Given the description of an element on the screen output the (x, y) to click on. 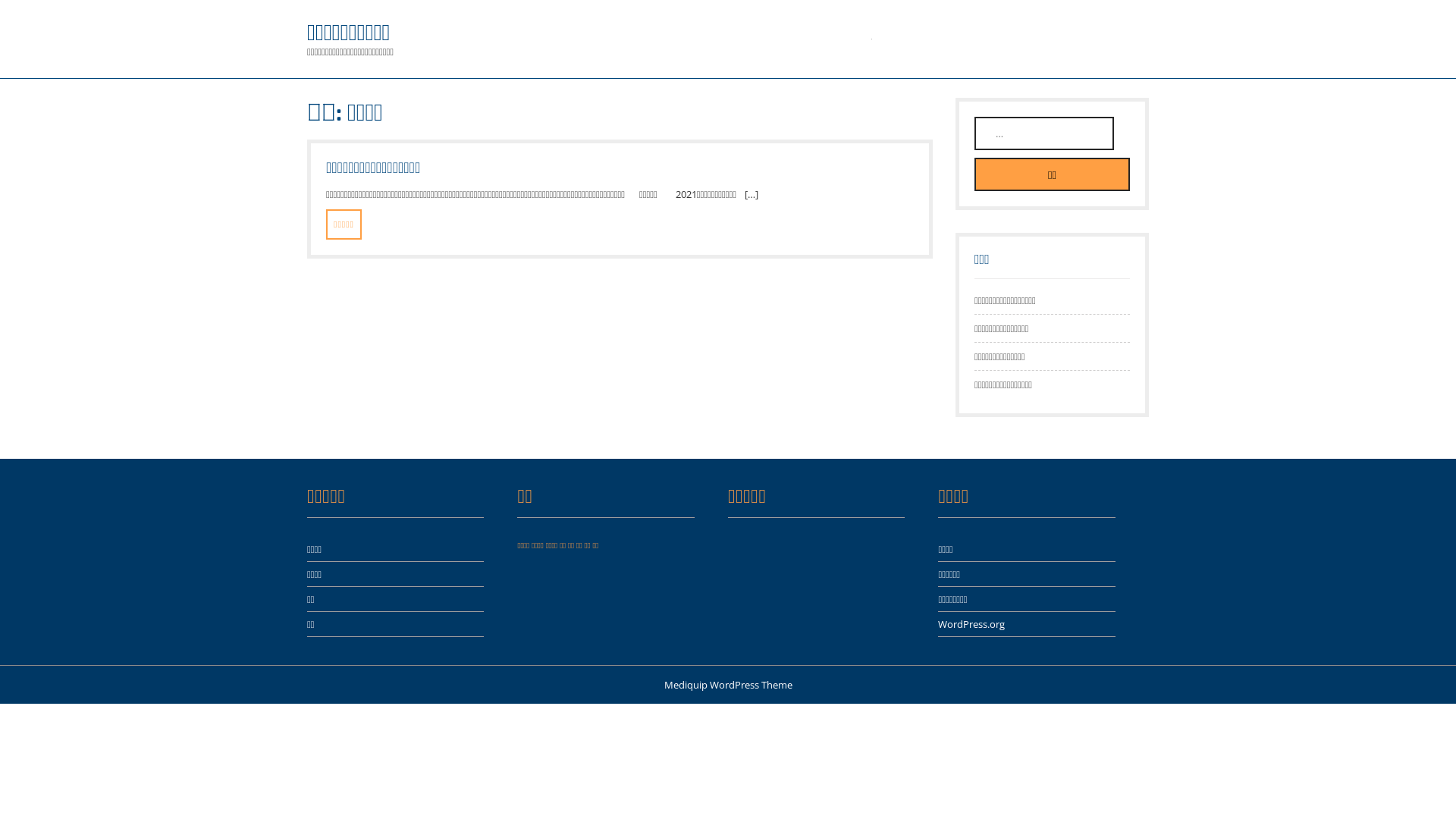
WordPress.org Element type: text (971, 623)
Mediquip WordPress Theme Element type: text (728, 684)
